Given the description of an element on the screen output the (x, y) to click on. 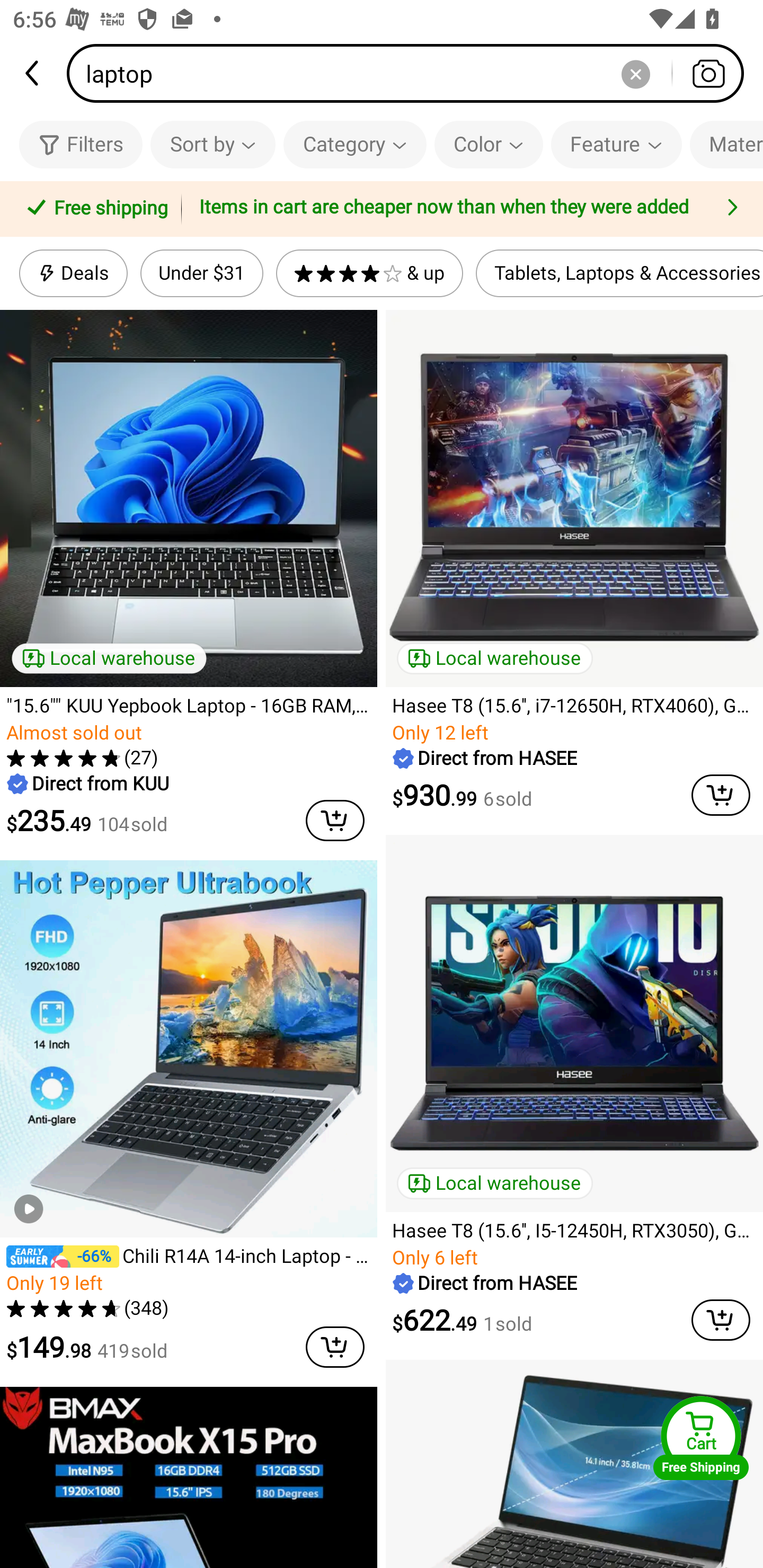
back (33, 72)
laptop (411, 73)
Delete search history (635, 73)
Search by photo (708, 73)
Filters (80, 143)
Sort by (212, 143)
Category (354, 143)
Color (488, 143)
Feature (616, 143)
Material (726, 143)
 Free shipping (93, 208)
Deals (73, 273)
Under $31 (201, 273)
& up (369, 273)
Tablets, Laptops & Accessories (619, 273)
cart delete (720, 794)
cart delete (334, 819)
cart delete (720, 1319)
cart delete (334, 1346)
Cart Free Shipping Cart (701, 1437)
